Given the description of an element on the screen output the (x, y) to click on. 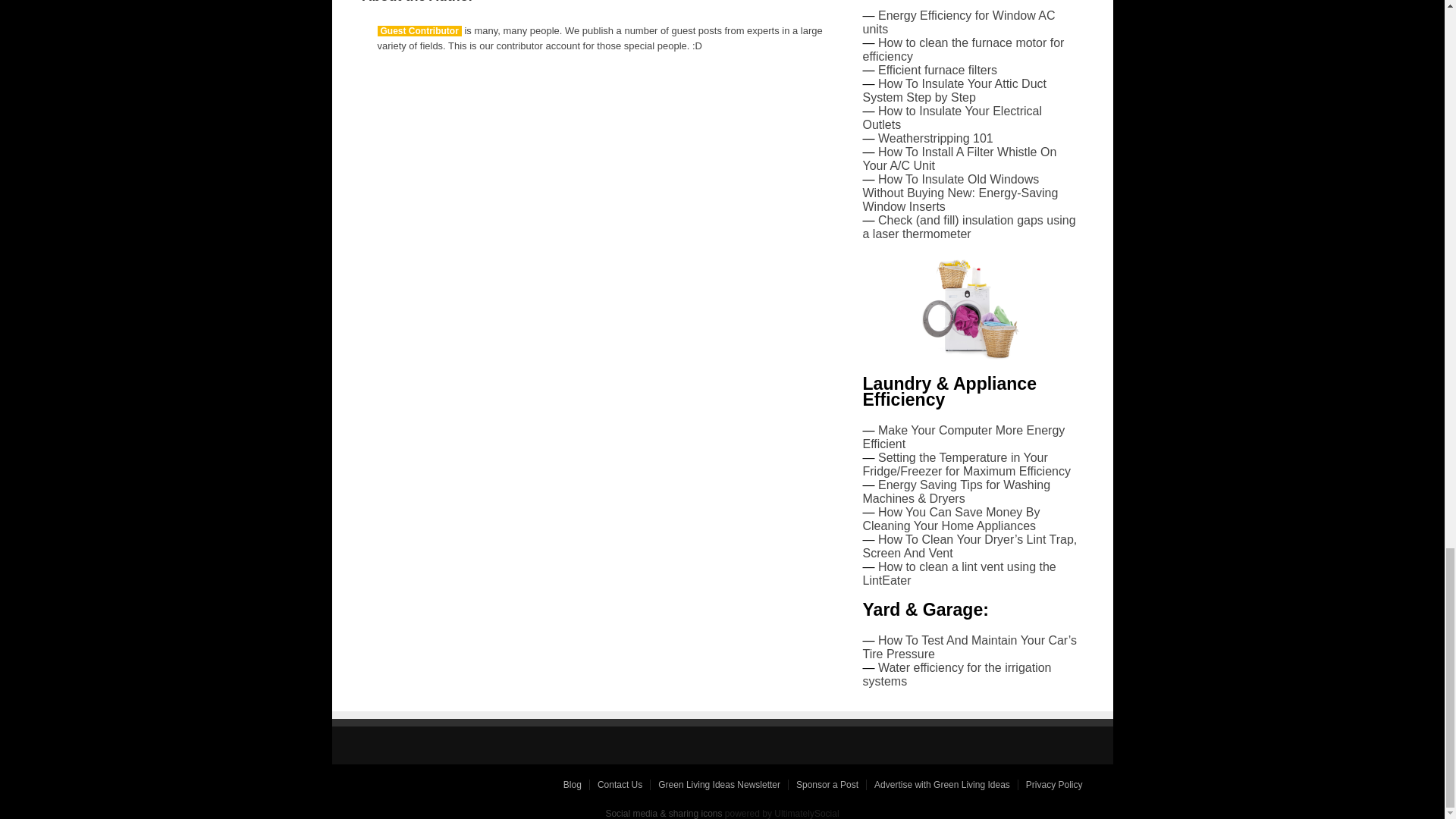
Posts by Guest Contributor (419, 30)
